Given the description of an element on the screen output the (x, y) to click on. 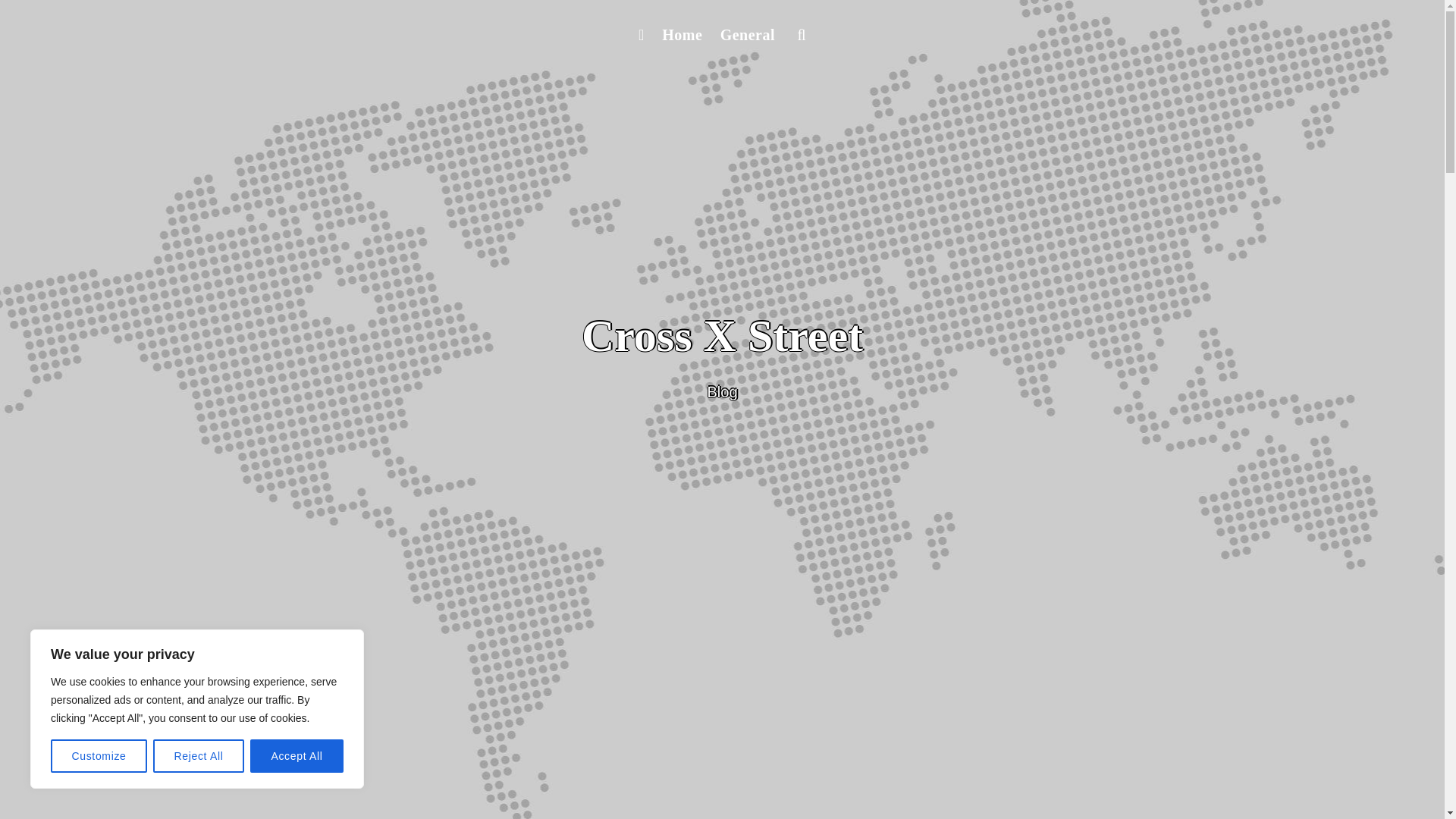
Home (681, 35)
Customize (98, 756)
Reject All (198, 756)
General (747, 35)
Accept All (296, 756)
Cross X Street (721, 336)
